Given the description of an element on the screen output the (x, y) to click on. 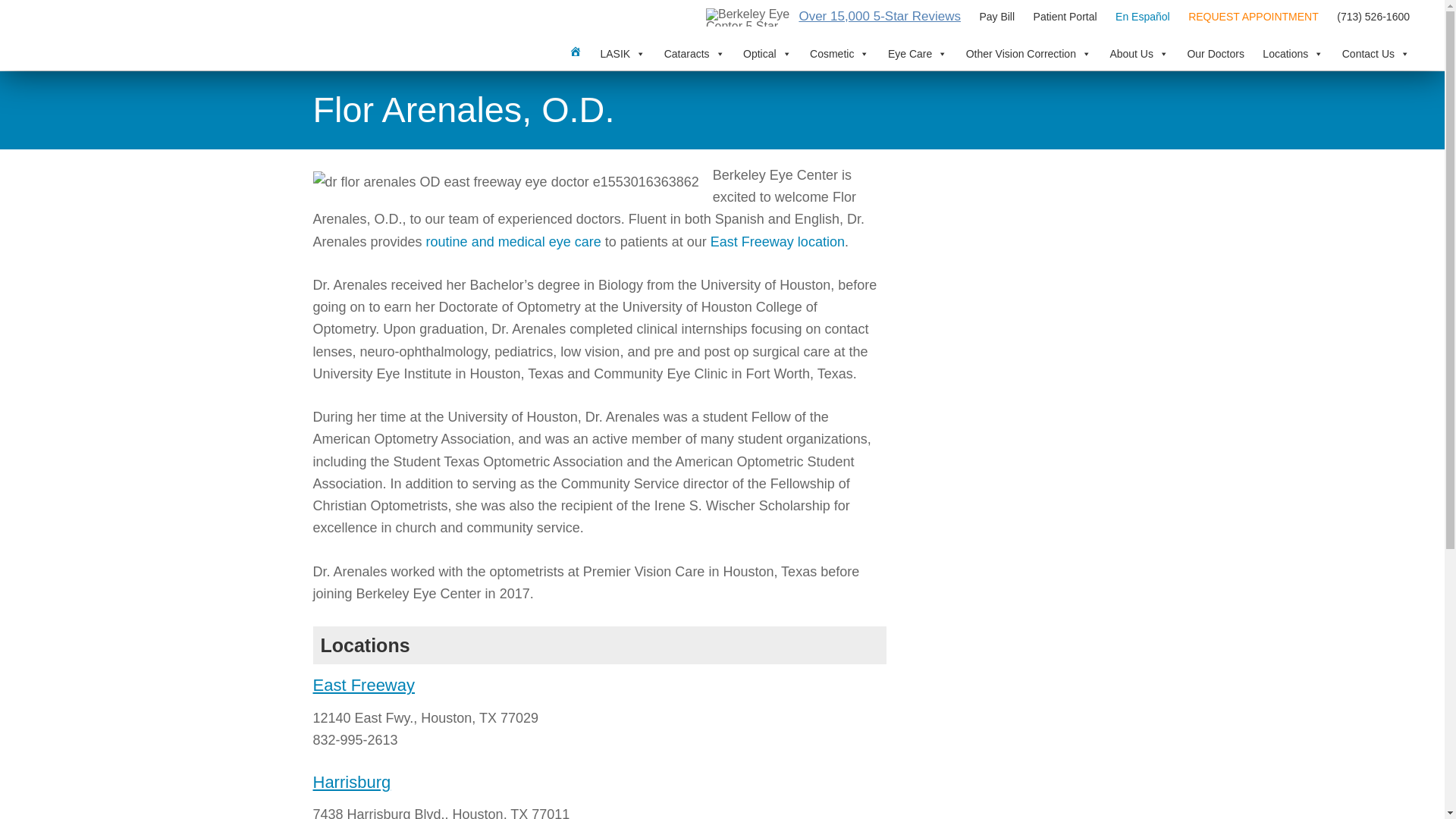
Cataracts (694, 53)
Home (575, 52)
Berkeley Eye Center - Houston LASIK and Eye Care (76, 34)
REQUEST APPOINTMENT (1253, 16)
Patient Portal (1065, 16)
LASIK (622, 53)
Pay Bill (996, 16)
Flor Arenales, O.D. 1 (505, 182)
Optical (767, 53)
Over 15,000 5-Star Reviews (881, 17)
